Given the description of an element on the screen output the (x, y) to click on. 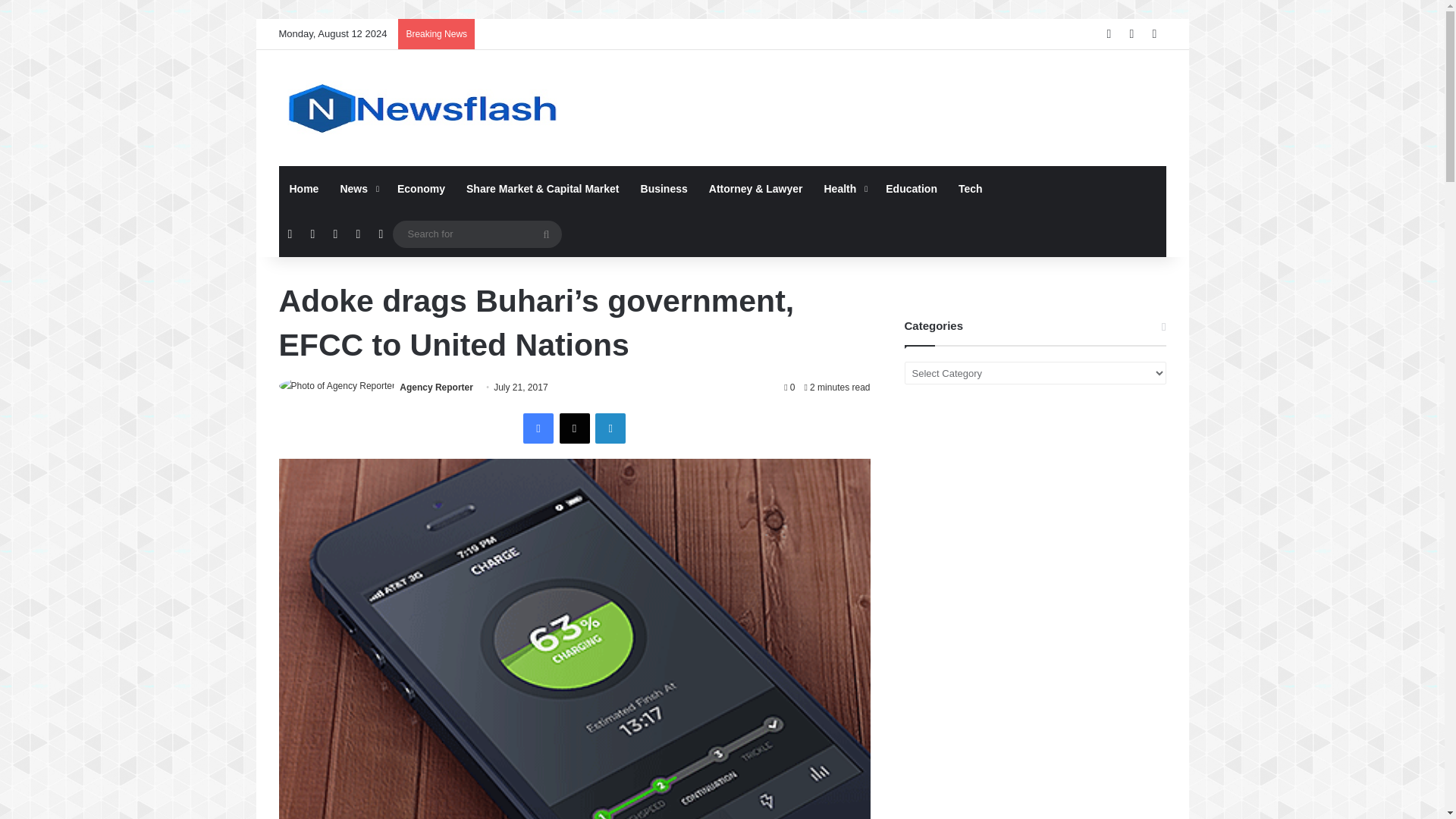
Business (664, 188)
Economy (421, 188)
LinkedIn (610, 428)
News (358, 188)
X (574, 428)
Search for (477, 233)
Tech (969, 188)
Facebook (537, 428)
Health (843, 188)
Agency Reporter (435, 387)
